Given the description of an element on the screen output the (x, y) to click on. 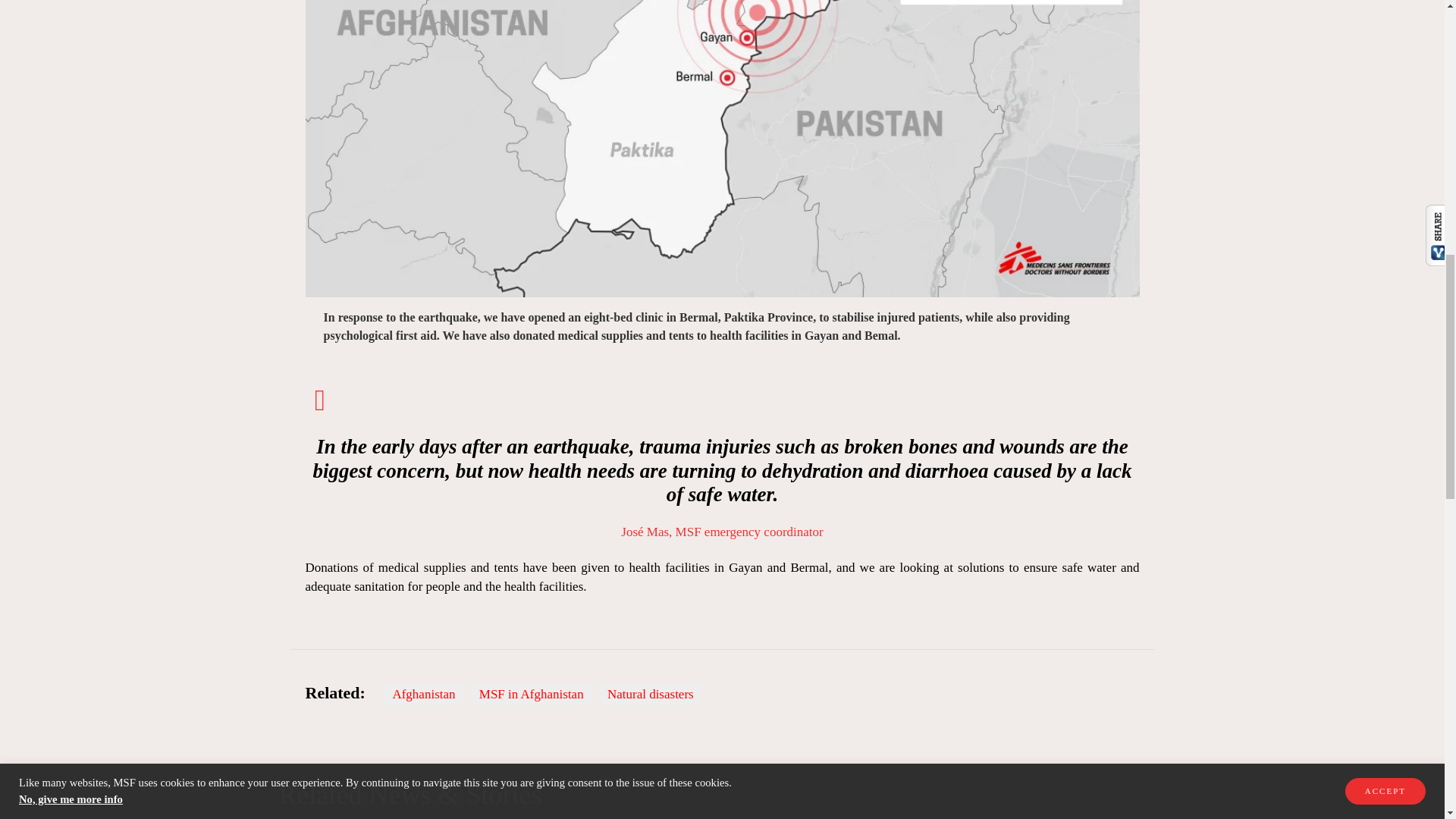
Natural disasters (650, 694)
Afghanistan (423, 694)
MSF in Afghanistan (531, 694)
